Given the description of an element on the screen output the (x, y) to click on. 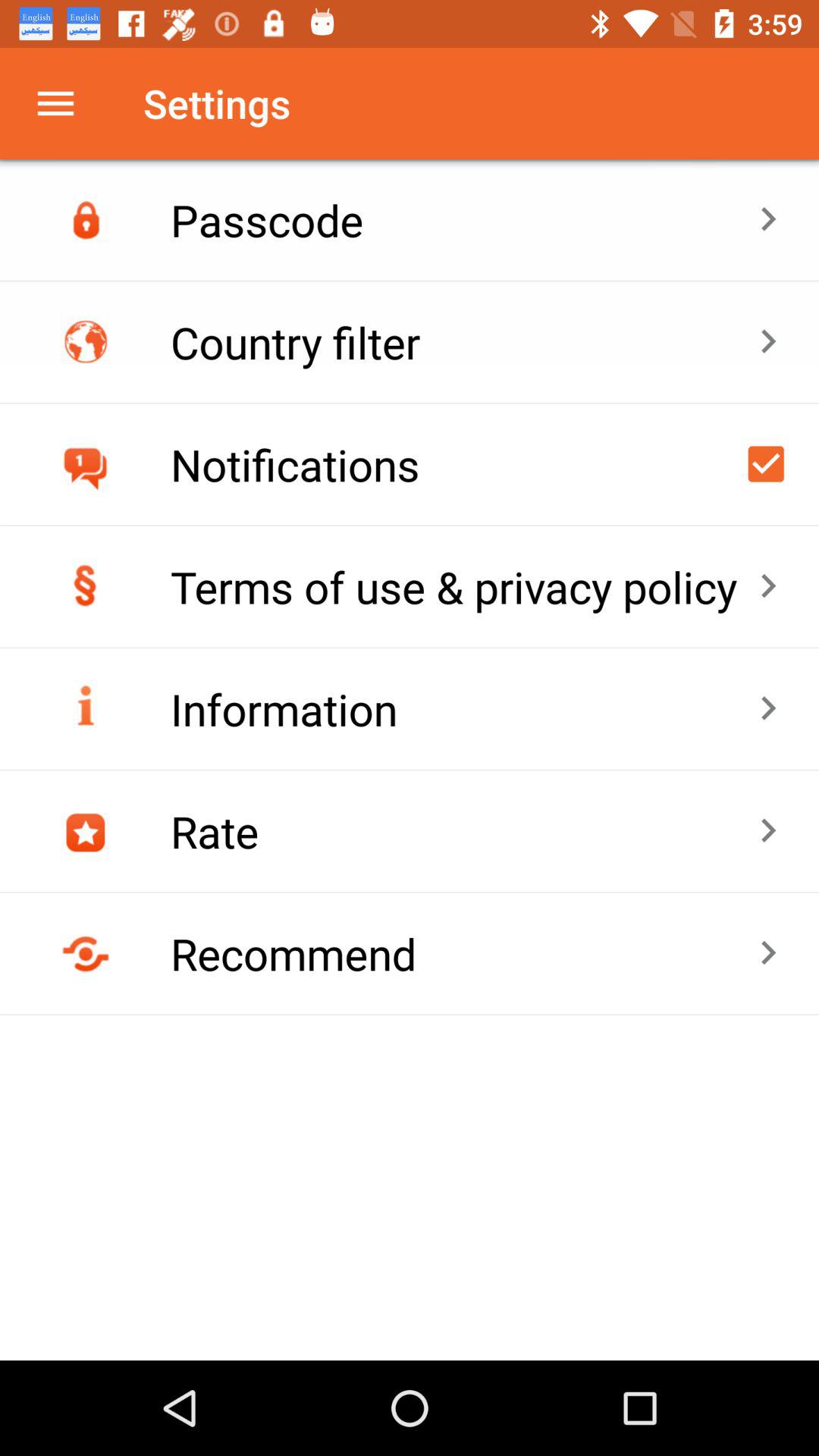
press the icon above terms of use (765, 463)
